Given the description of an element on the screen output the (x, y) to click on. 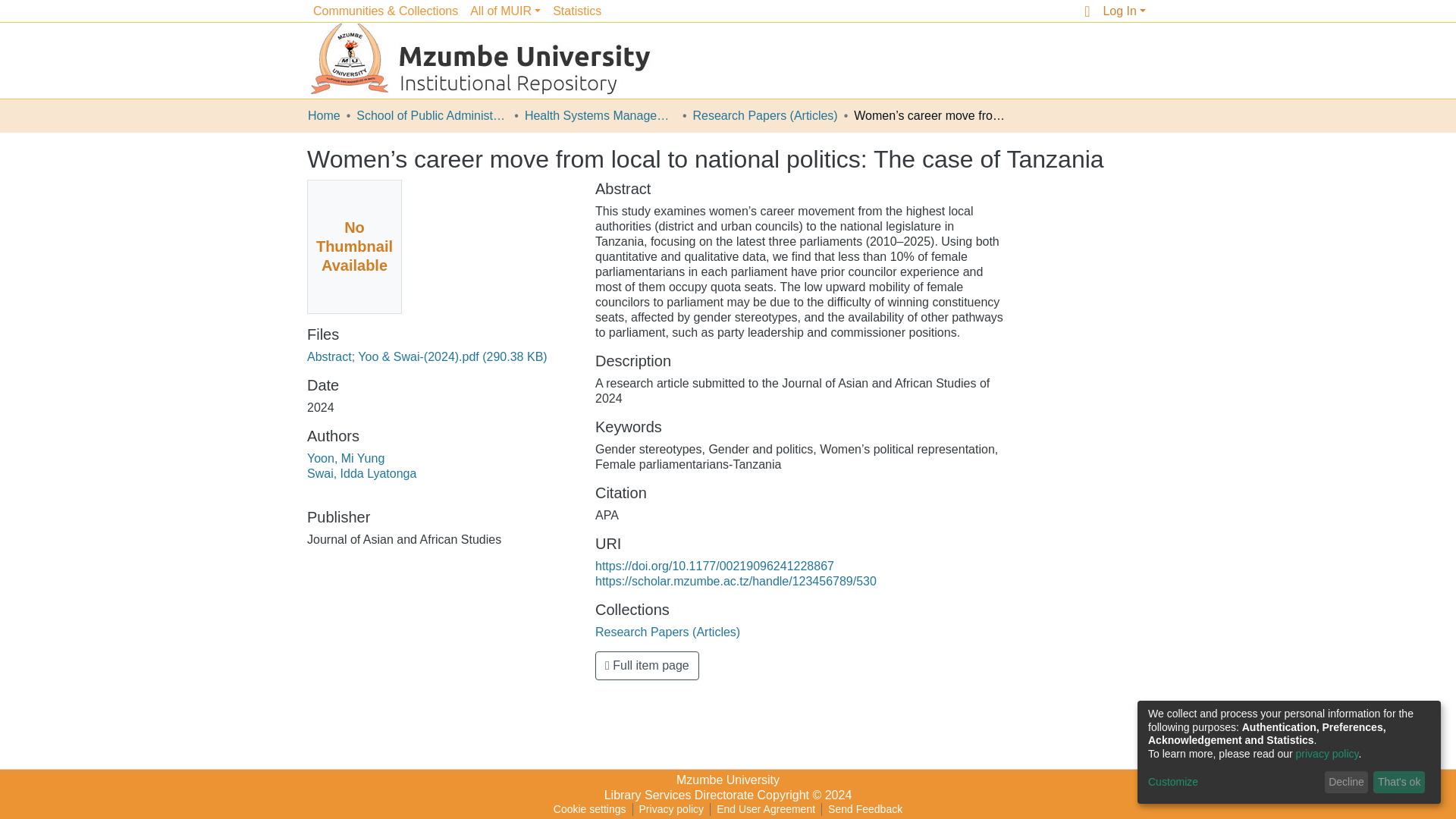
Full item page (646, 665)
Log In (1123, 10)
Statistics (577, 12)
Customize (1233, 782)
Decline (1346, 782)
privacy policy (1326, 753)
Privacy policy (671, 808)
Statistics (577, 12)
Home (323, 115)
End User Agreement (765, 808)
